Given the description of an element on the screen output the (x, y) to click on. 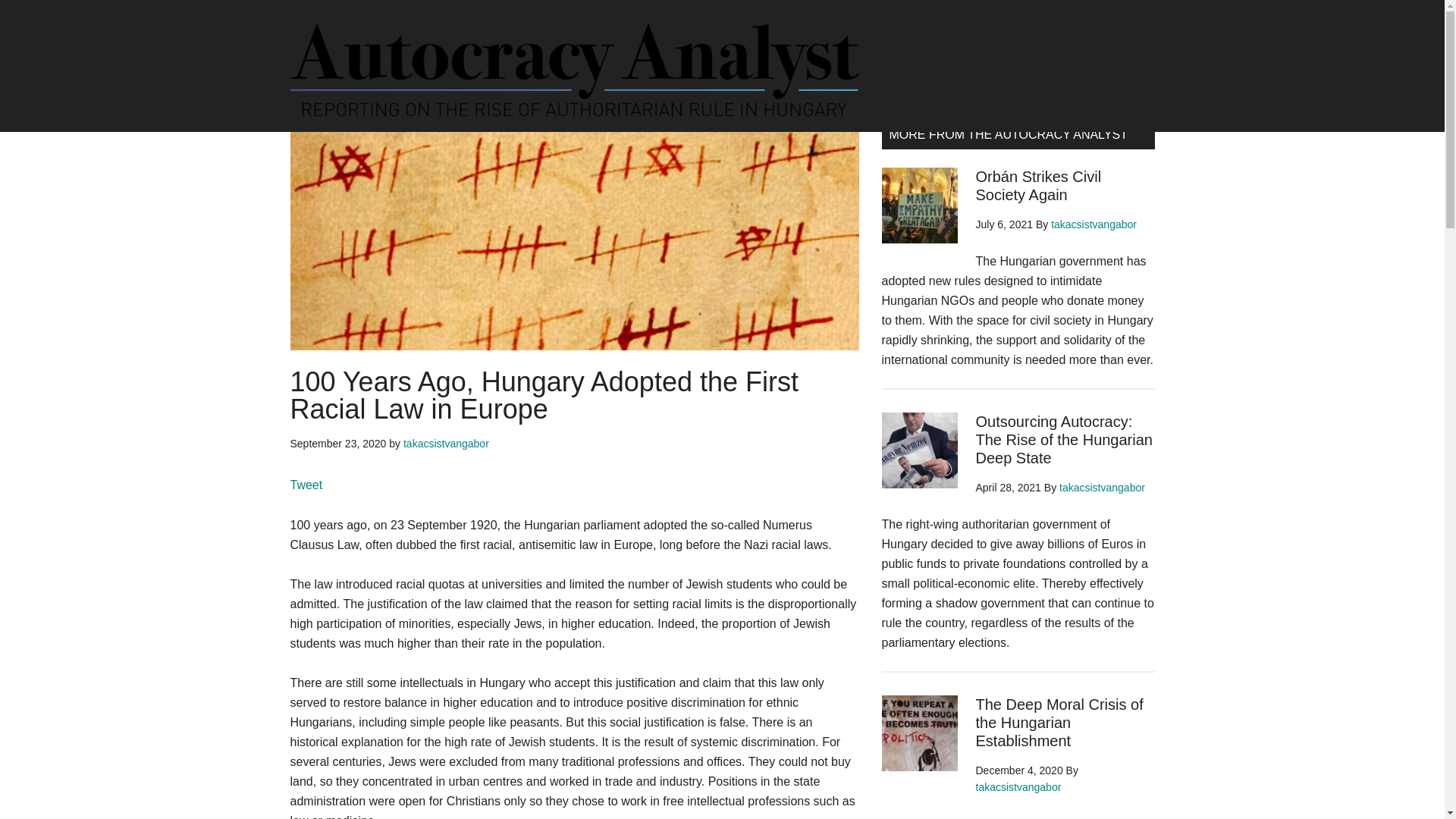
takacsistvangabor (446, 443)
Tweet (305, 484)
Outsourcing Autocracy: The Rise of the Hungarian Deep State (1063, 439)
takacsistvangabor (1018, 787)
takacsistvangabor (1094, 224)
The Deep Moral Crisis of the Hungarian Establishment (1058, 722)
takacsistvangabor (1101, 487)
Read more about us! (1002, 78)
